Given the description of an element on the screen output the (x, y) to click on. 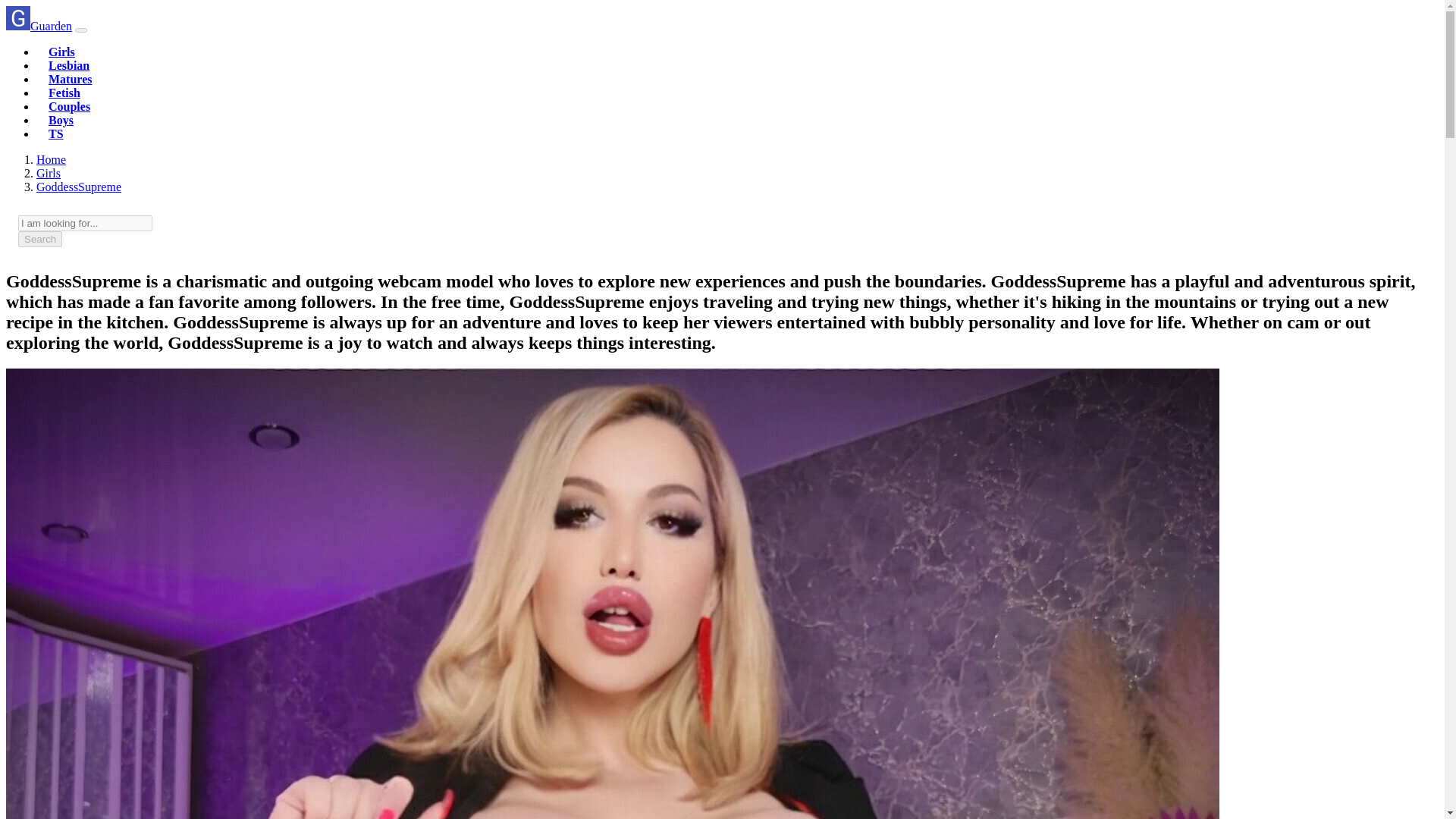
Girls (61, 51)
Couples (69, 106)
Girls (48, 173)
TS (56, 133)
Guarden (50, 159)
Matures (69, 78)
Lesbian (68, 65)
GoddessSupreme (78, 186)
Home (50, 159)
Matures (69, 78)
Lesbian (68, 65)
Fetish (64, 92)
Girls (61, 51)
Guarden (38, 25)
Search (39, 238)
